Given the description of an element on the screen output the (x, y) to click on. 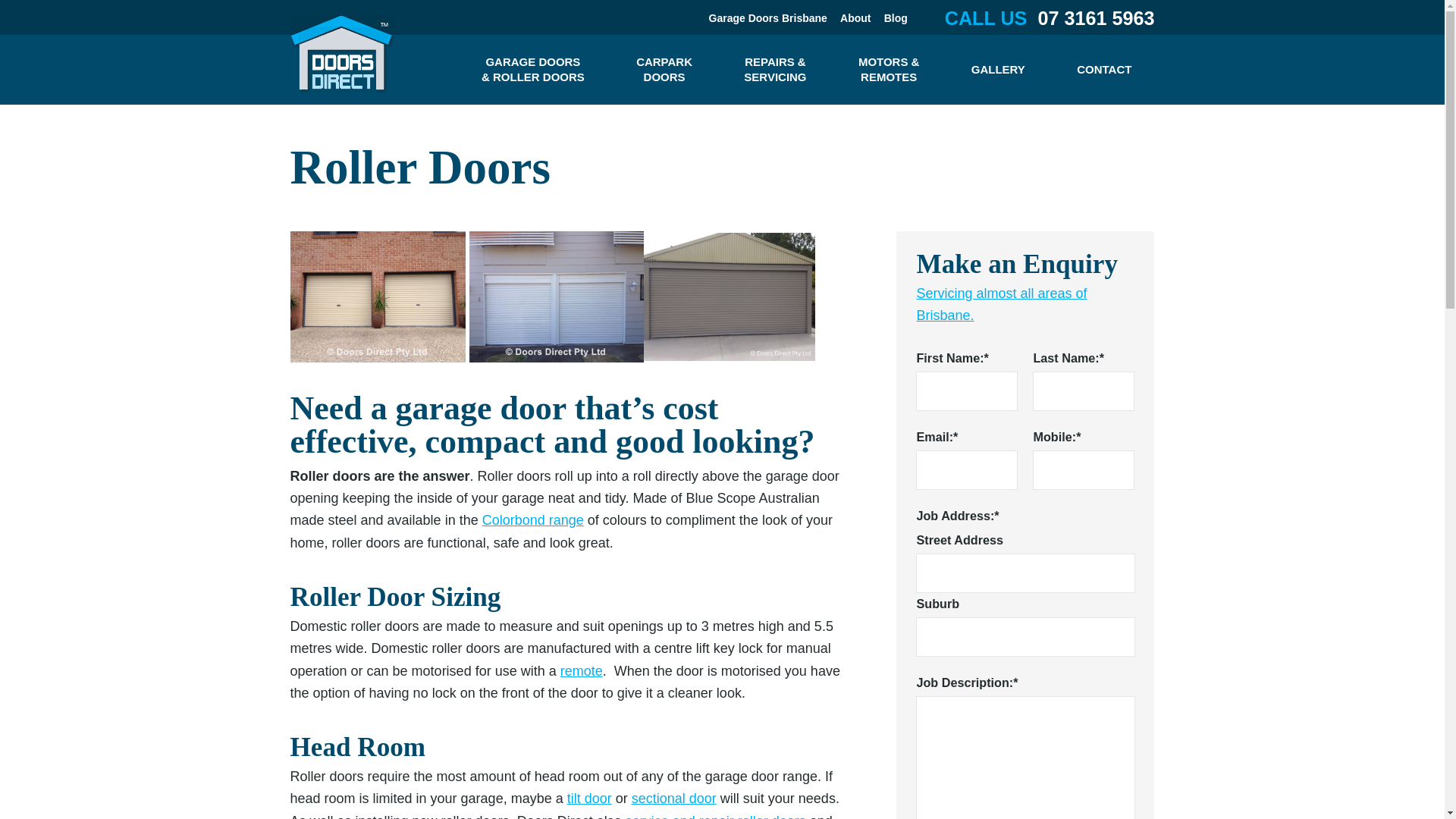
About (855, 17)
GALLERY (997, 70)
Colorbond range (532, 519)
CALL US 07 3161 5963 (1038, 17)
Blog (895, 17)
remote (581, 670)
Garage Doors Brisbane (663, 69)
CONTACT (768, 17)
